Given the description of an element on the screen output the (x, y) to click on. 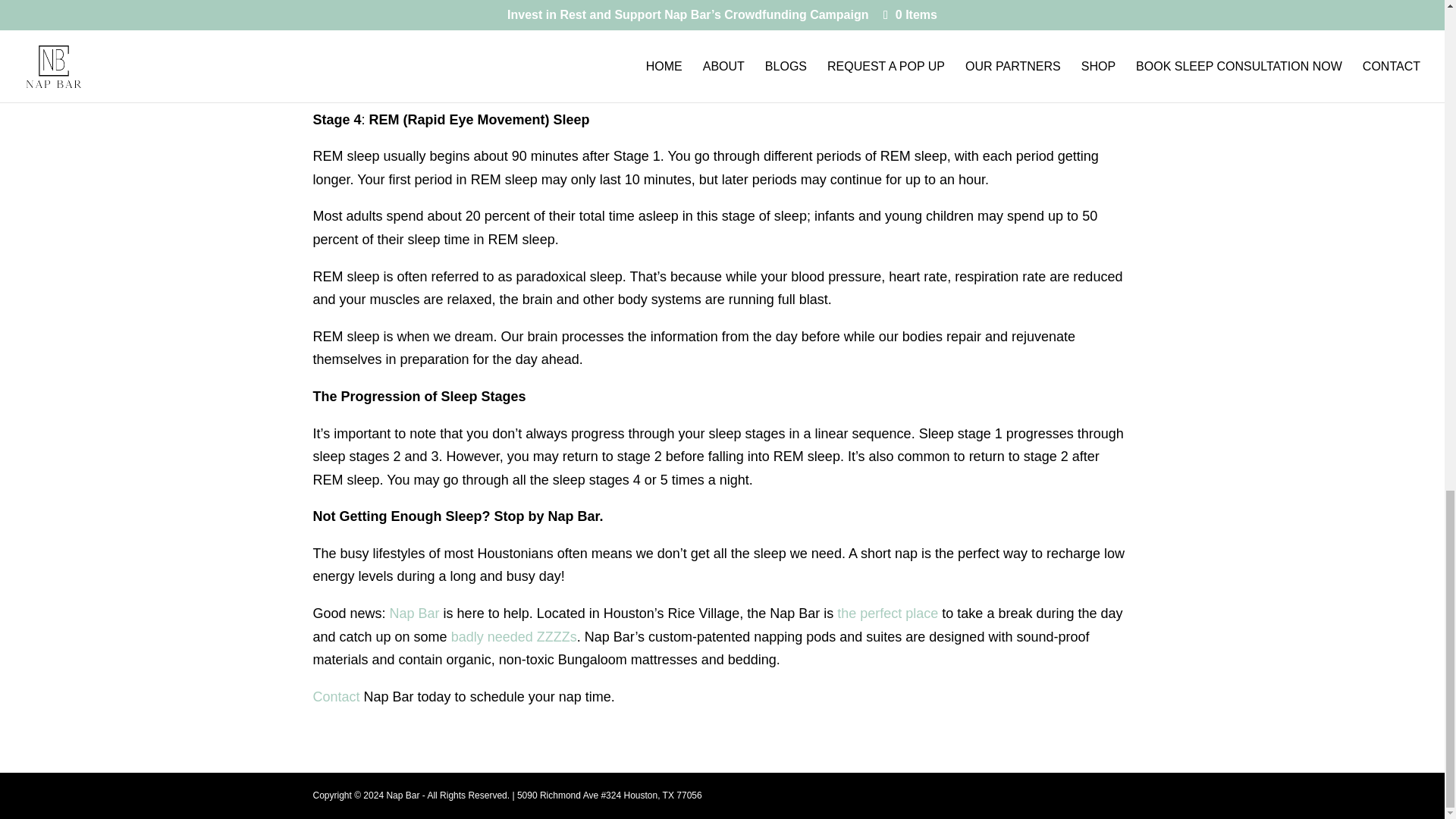
Nap Bar (414, 613)
Contact (336, 696)
the perfect place (887, 613)
badly needed ZZZZs (513, 636)
